Given the description of an element on the screen output the (x, y) to click on. 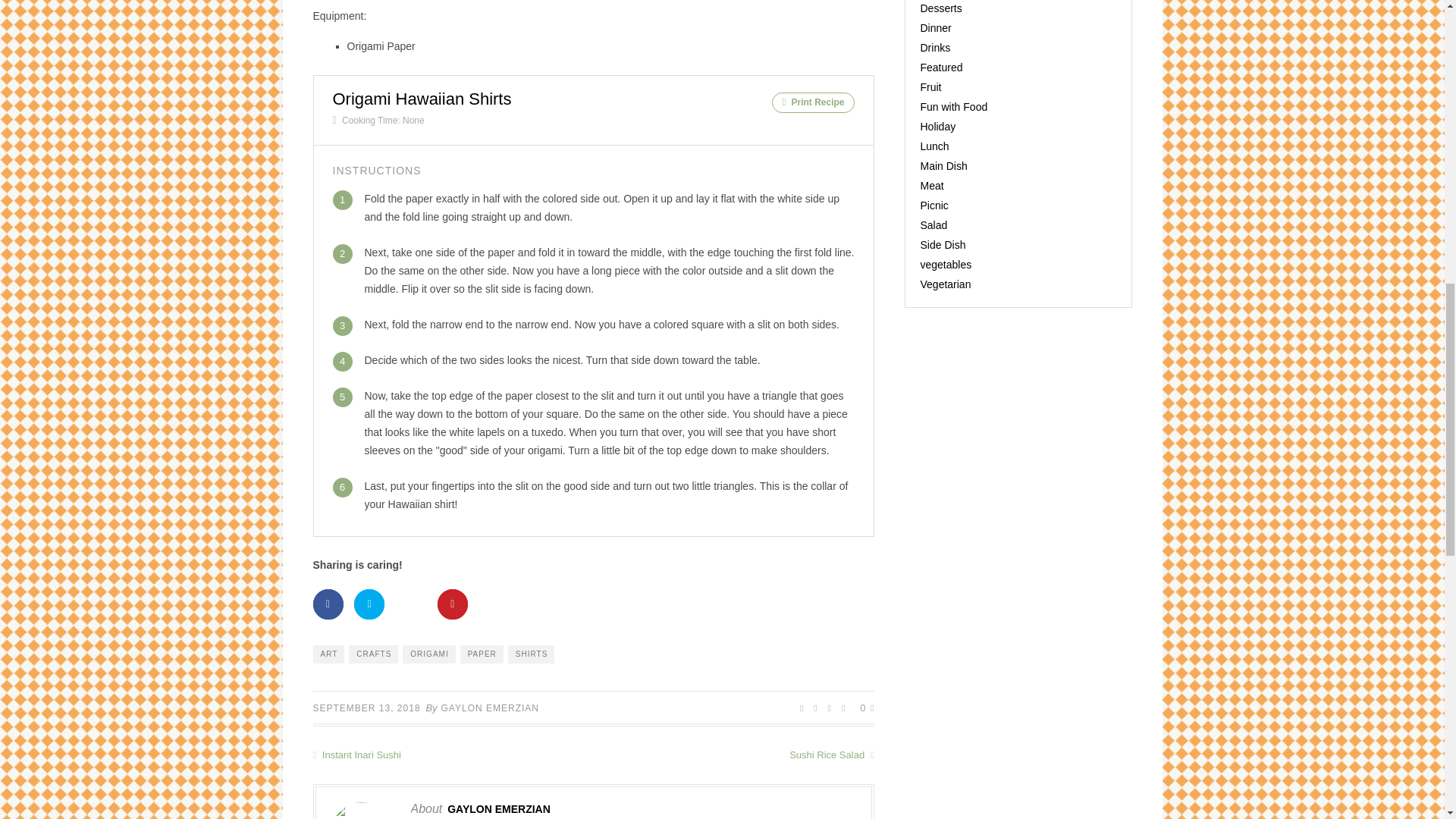
Posts by Gaylon Emerzian (498, 808)
0 (866, 707)
PAPER (481, 654)
Instant Inari Sushi (452, 754)
ART (328, 654)
SEPTEMBER 13, 2018 (366, 707)
Posts by Gaylon Emerzian (489, 707)
Print Recipe (812, 102)
SHIRTS (531, 654)
ORIGAMI (428, 654)
CRAFTS (373, 654)
GAYLON EMERZIAN (489, 707)
